Given the description of an element on the screen output the (x, y) to click on. 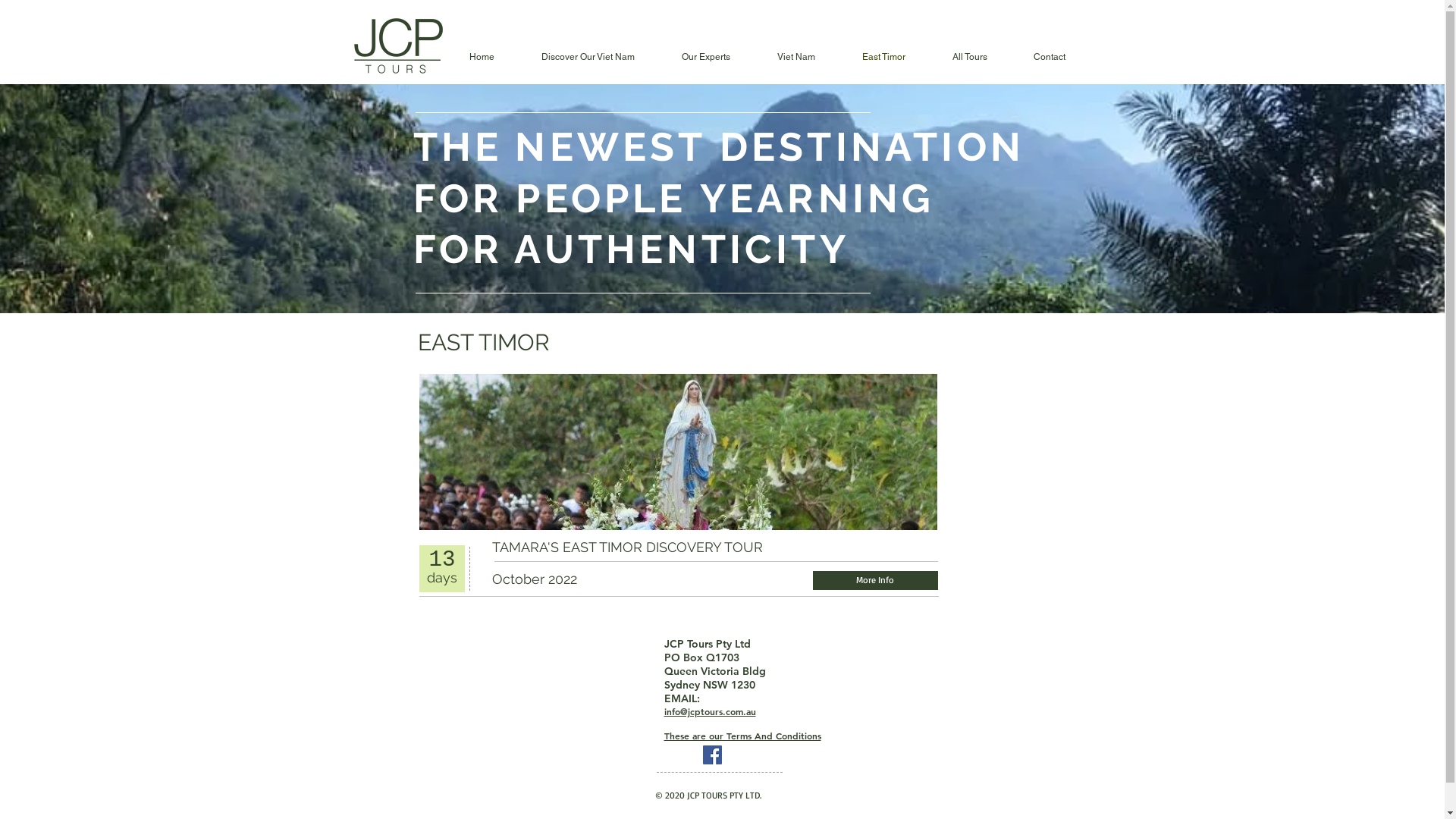
Our Experts Element type: text (705, 57)
Home Element type: text (481, 57)
Viet Nam Element type: text (795, 57)
Contact Element type: text (1049, 57)
These are our Terms And Conditions Element type: text (742, 735)
info@jcptours.com.au Element type: text (710, 711)
More Info Element type: text (875, 580)
Discover Our Viet Nam Element type: text (587, 57)
East Timor Element type: text (883, 57)
